Given the description of an element on the screen output the (x, y) to click on. 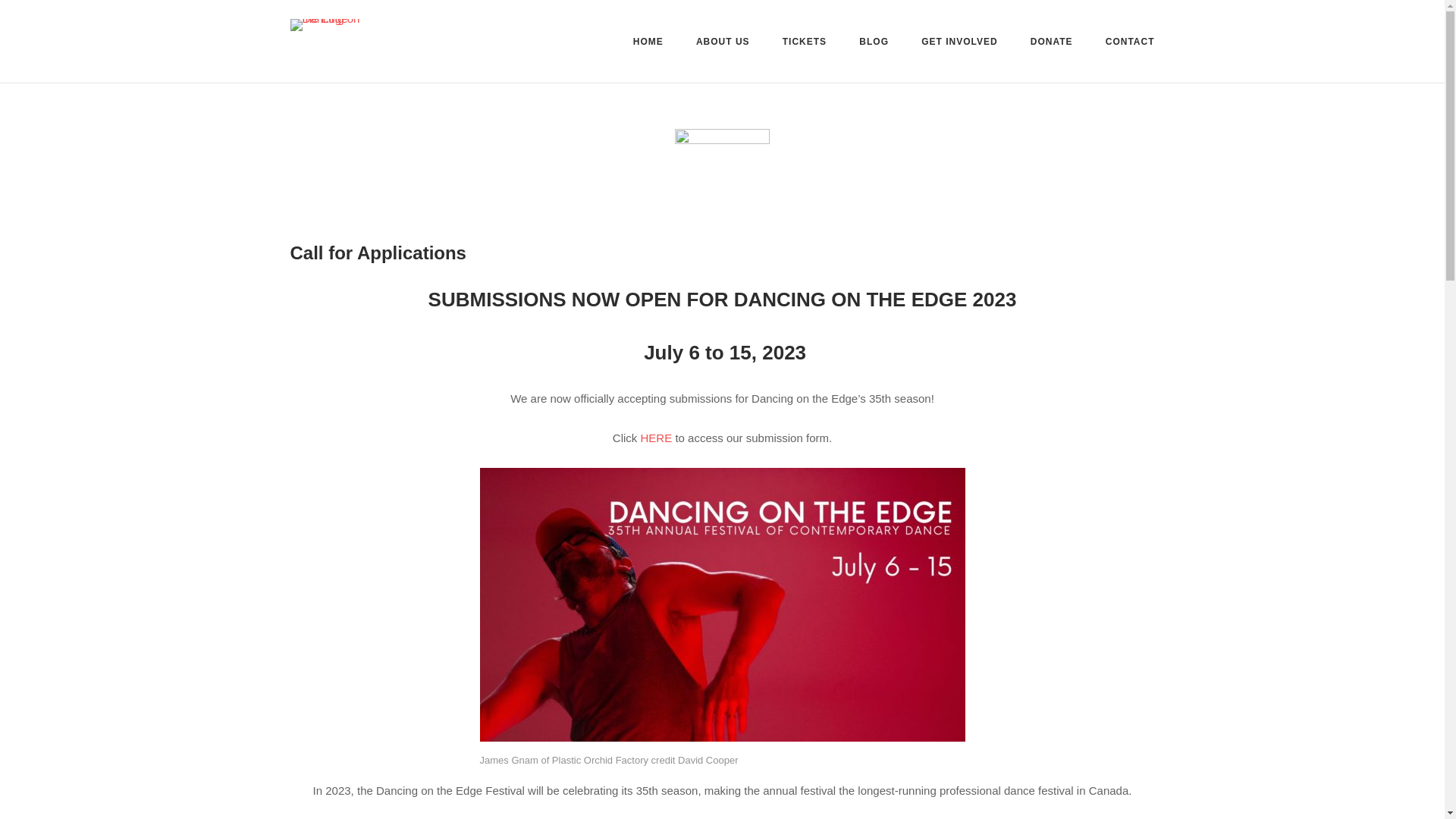
DONATE (1051, 44)
GET INVOLVED (959, 43)
ABOUT US (722, 44)
HERE (656, 437)
BLOG (873, 44)
HOME (648, 44)
TICKETS (805, 44)
CONTACT (1129, 44)
